Given the description of an element on the screen output the (x, y) to click on. 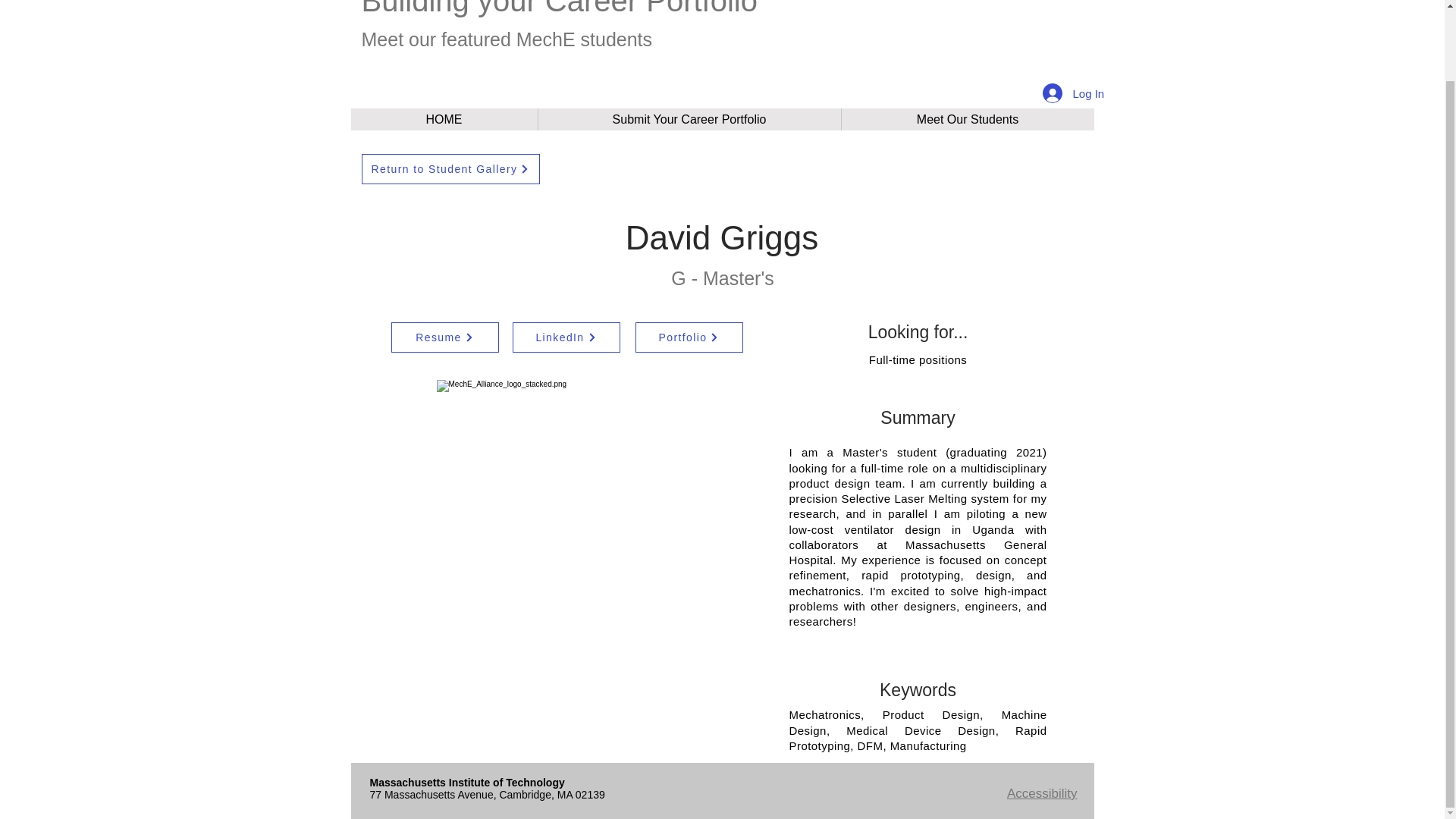
Portfolio (688, 337)
Return to Student Gallery (449, 168)
Meet Our Students (966, 119)
Resume (445, 337)
Submit Your Career Portfolio (688, 119)
HOME (443, 119)
LinkedIn (566, 337)
Accessibility (1042, 793)
Log In (1062, 92)
